Given the description of an element on the screen output the (x, y) to click on. 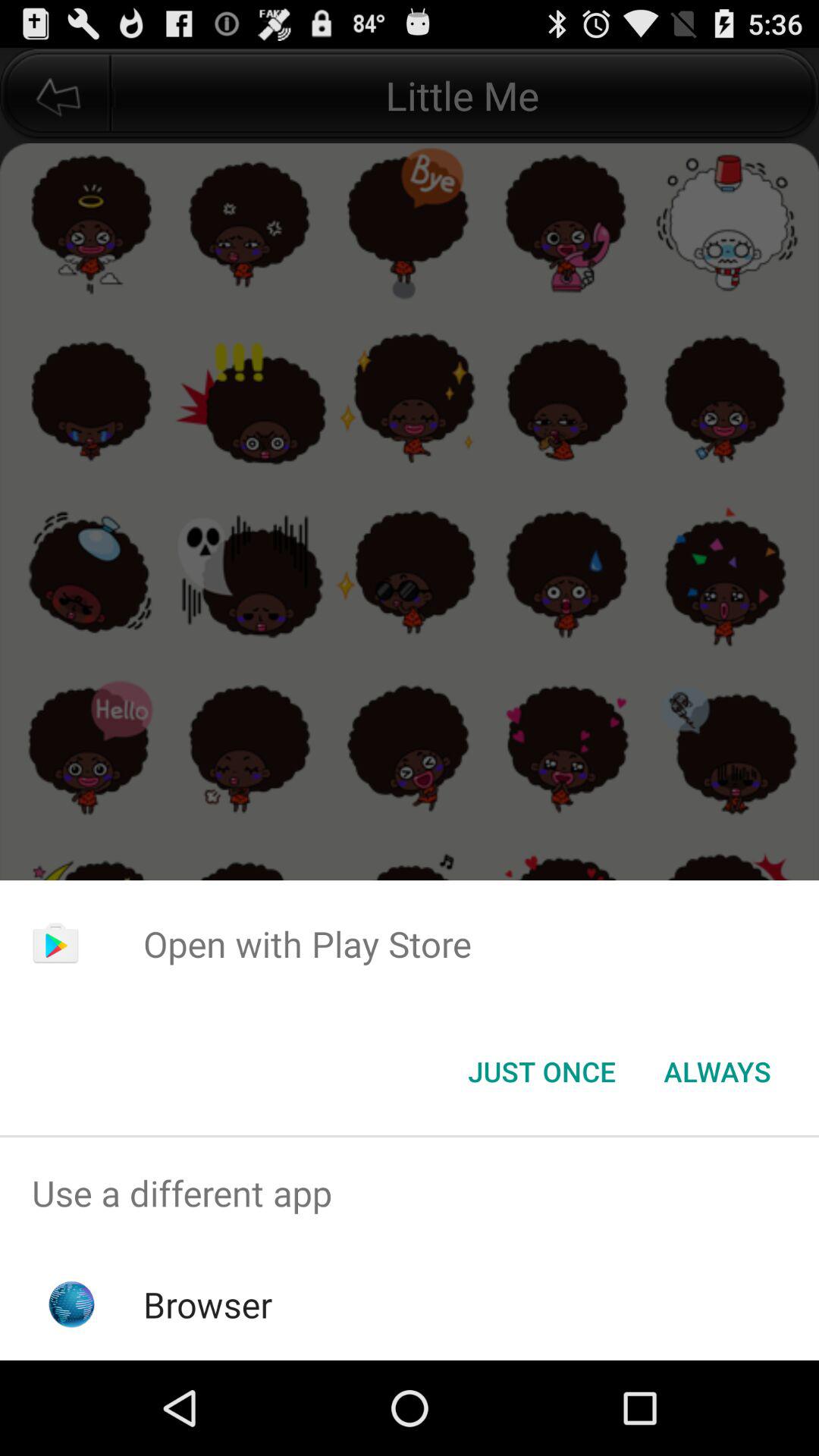
tap app above the browser app (409, 1192)
